Given the description of an element on the screen output the (x, y) to click on. 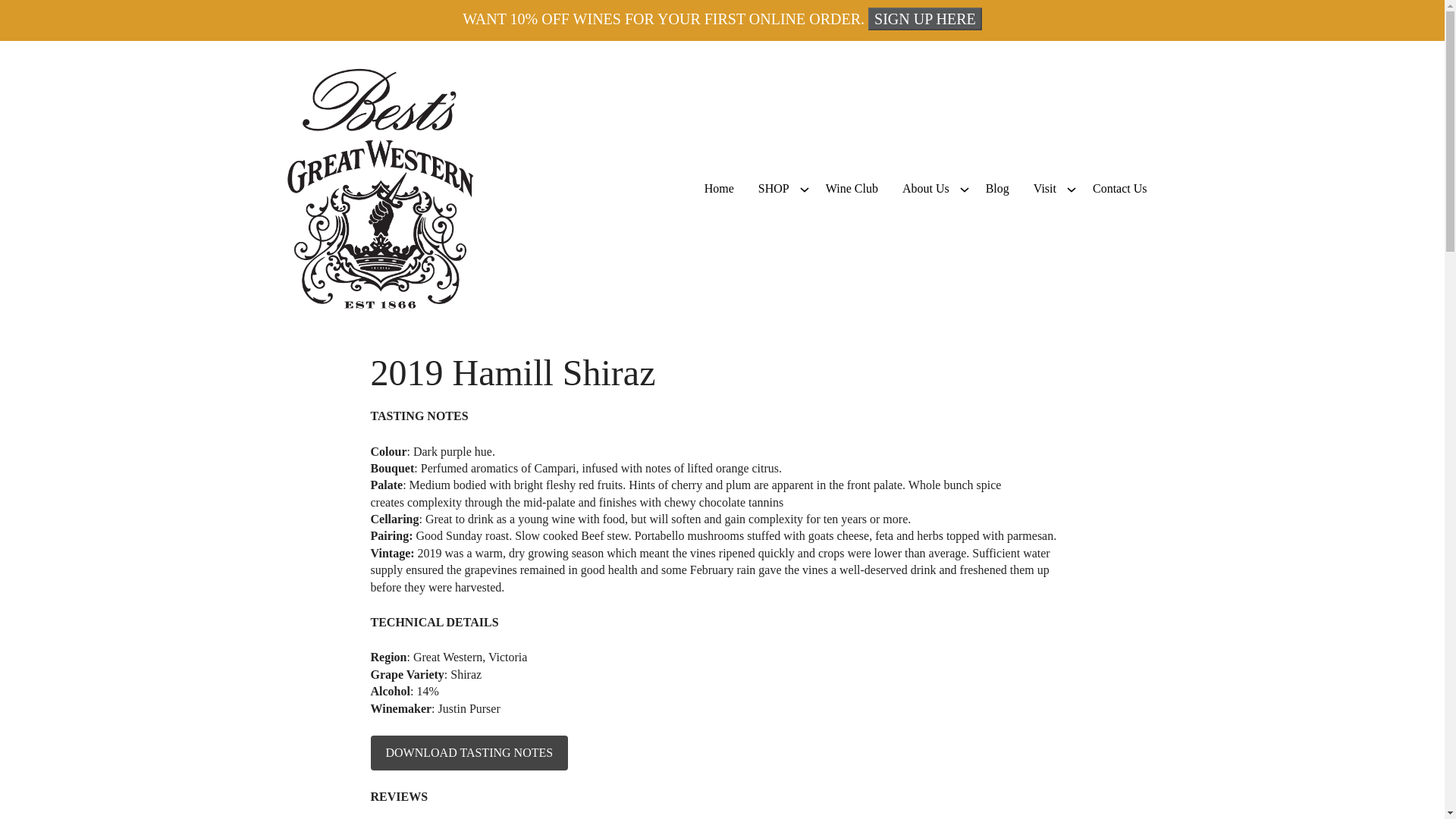
SHOP (773, 188)
Home (719, 188)
Wine Club (851, 188)
DOWNLOAD TASTING NOTES (468, 752)
SIGN UP HERE (924, 18)
Blog (998, 188)
Contact Us (1119, 188)
About Us (924, 188)
Visit (1045, 188)
SIGN UP HERE (924, 18)
